Given the description of an element on the screen output the (x, y) to click on. 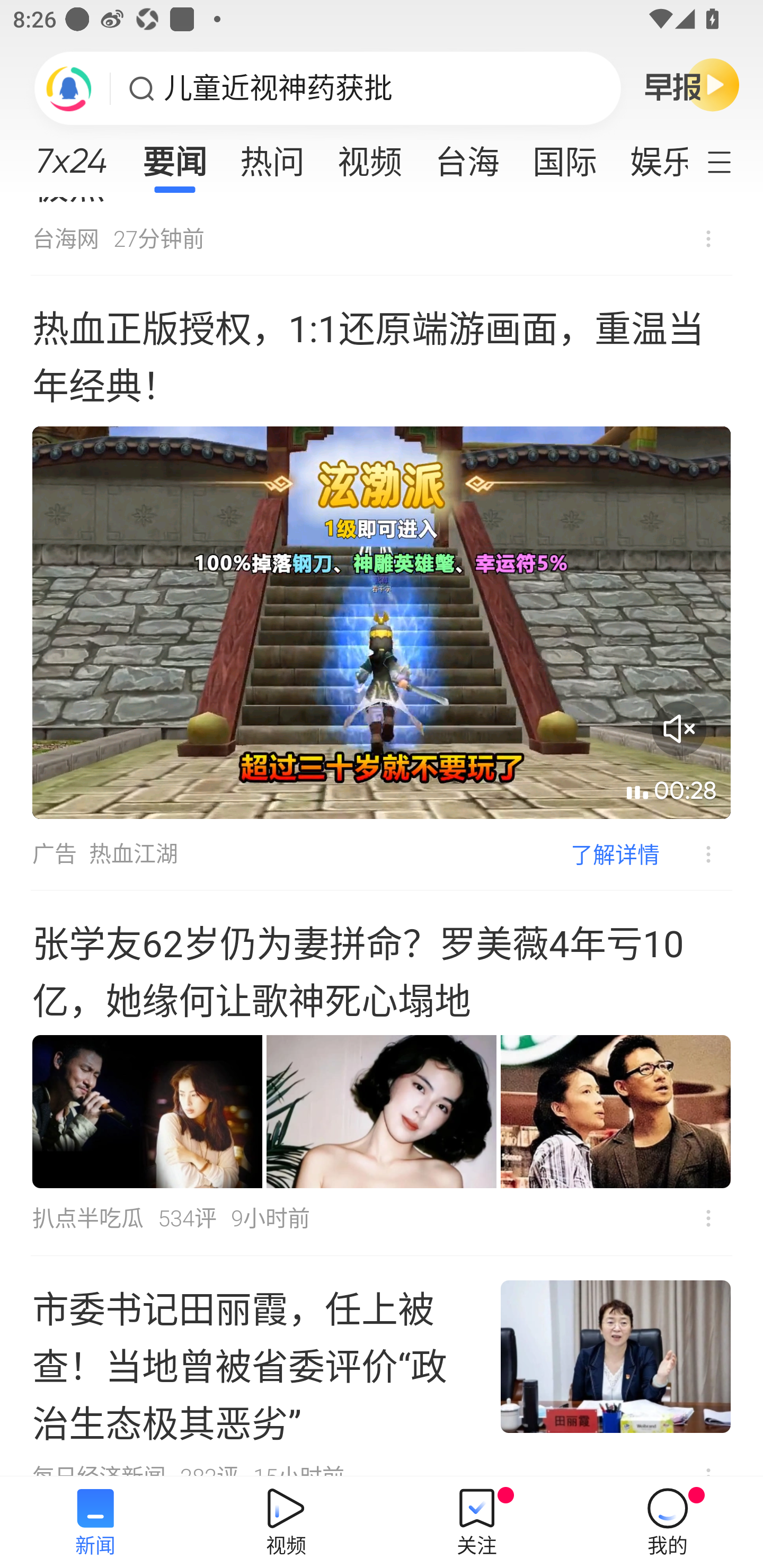
早晚报 (691, 84)
刷新 (68, 88)
儿童近视神药获批 (278, 88)
7x24 (70, 154)
要闻 (174, 155)
热问 (272, 155)
视频 (369, 155)
台海 (466, 155)
国际 (564, 155)
娱乐 (650, 155)
 定制频道 (731, 160)
 不感兴趣 (707, 238)
00:28 音量开关 (381, 622)
音量开关 (678, 727)
 不感兴趣 (694, 854)
了解详情 (614, 853)
广告 (54, 853)
热血江湖 (133, 853)
 不感兴趣 (707, 1218)
